Given the description of an element on the screen output the (x, y) to click on. 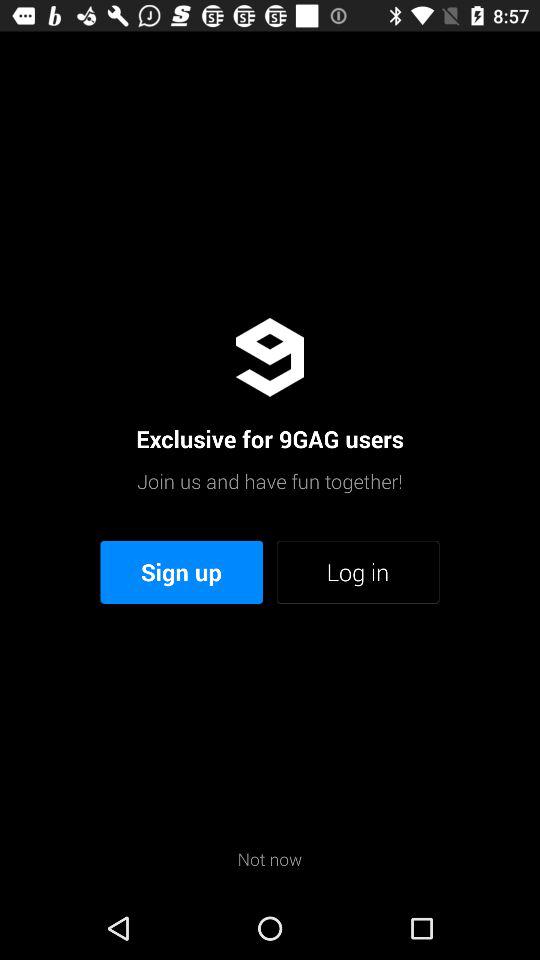
select icon above not now icon (357, 571)
